Given the description of an element on the screen output the (x, y) to click on. 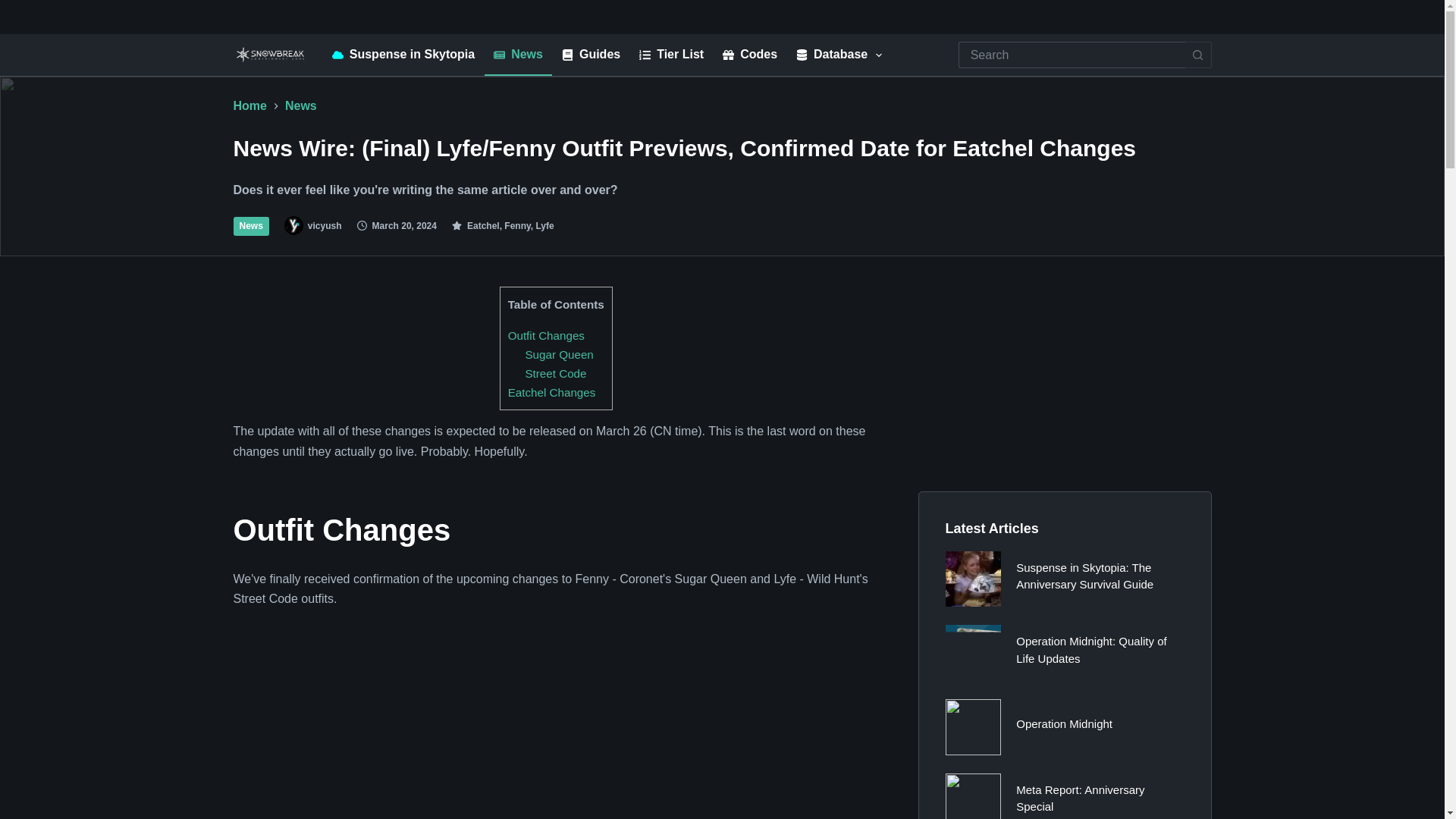
Posts by vicyush (324, 225)
Skip to content (15, 7)
Outfit Changes (546, 335)
Sugar Queen (558, 354)
Search for... (1071, 54)
News (250, 226)
Tier List (671, 55)
Guides (589, 55)
News (518, 55)
News (301, 106)
